Given the description of an element on the screen output the (x, y) to click on. 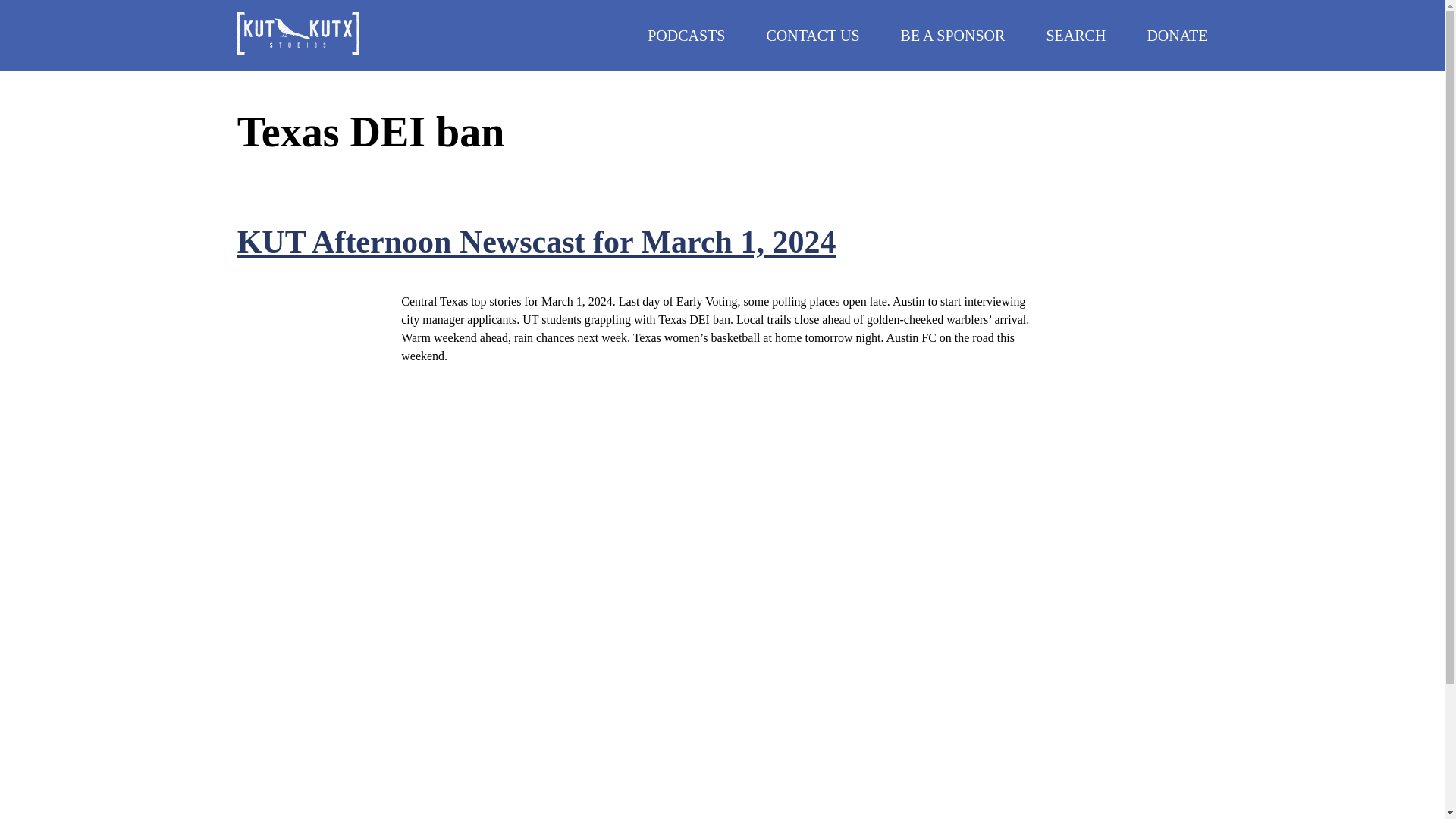
BE A SPONSOR (953, 35)
DONATE (1177, 35)
SEARCH (1075, 35)
CONTACT US (812, 35)
KUT Afternoon Newscast for March 1, 2024 (536, 241)
PODCASTS (686, 35)
